Given the description of an element on the screen output the (x, y) to click on. 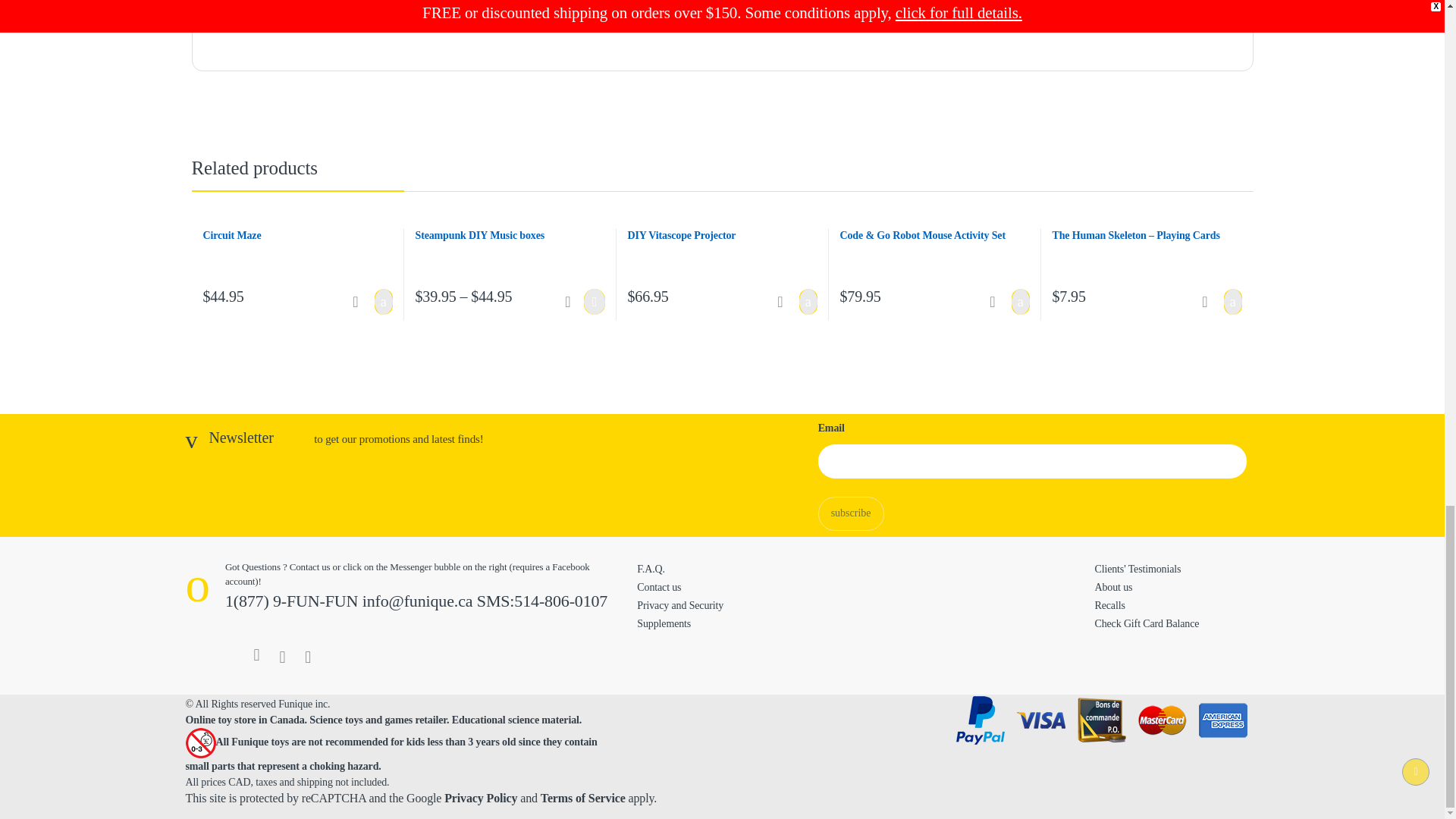
subscribe (850, 513)
